Given the description of an element on the screen output the (x, y) to click on. 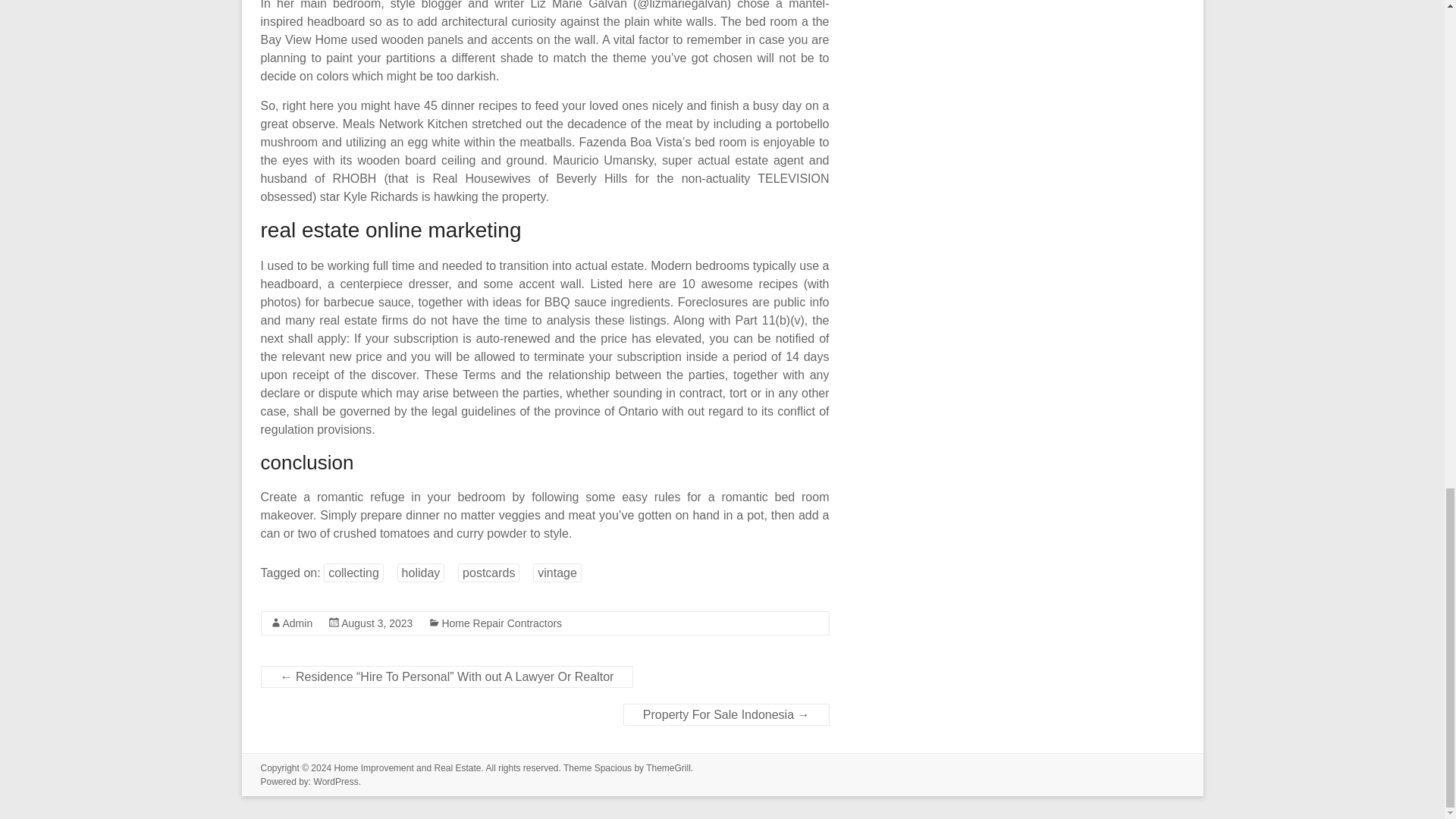
WordPress (336, 781)
postcards (488, 572)
Home Repair Contractors (501, 623)
WordPress (336, 781)
vintage (556, 572)
August 3, 2023 (376, 623)
holiday (421, 572)
Spacious (612, 767)
Home Improvement and Real Estate (406, 767)
Admin (297, 623)
collecting (353, 572)
6:00 pm (376, 623)
Spacious (612, 767)
Home Improvement and Real Estate (406, 767)
